Given the description of an element on the screen output the (x, y) to click on. 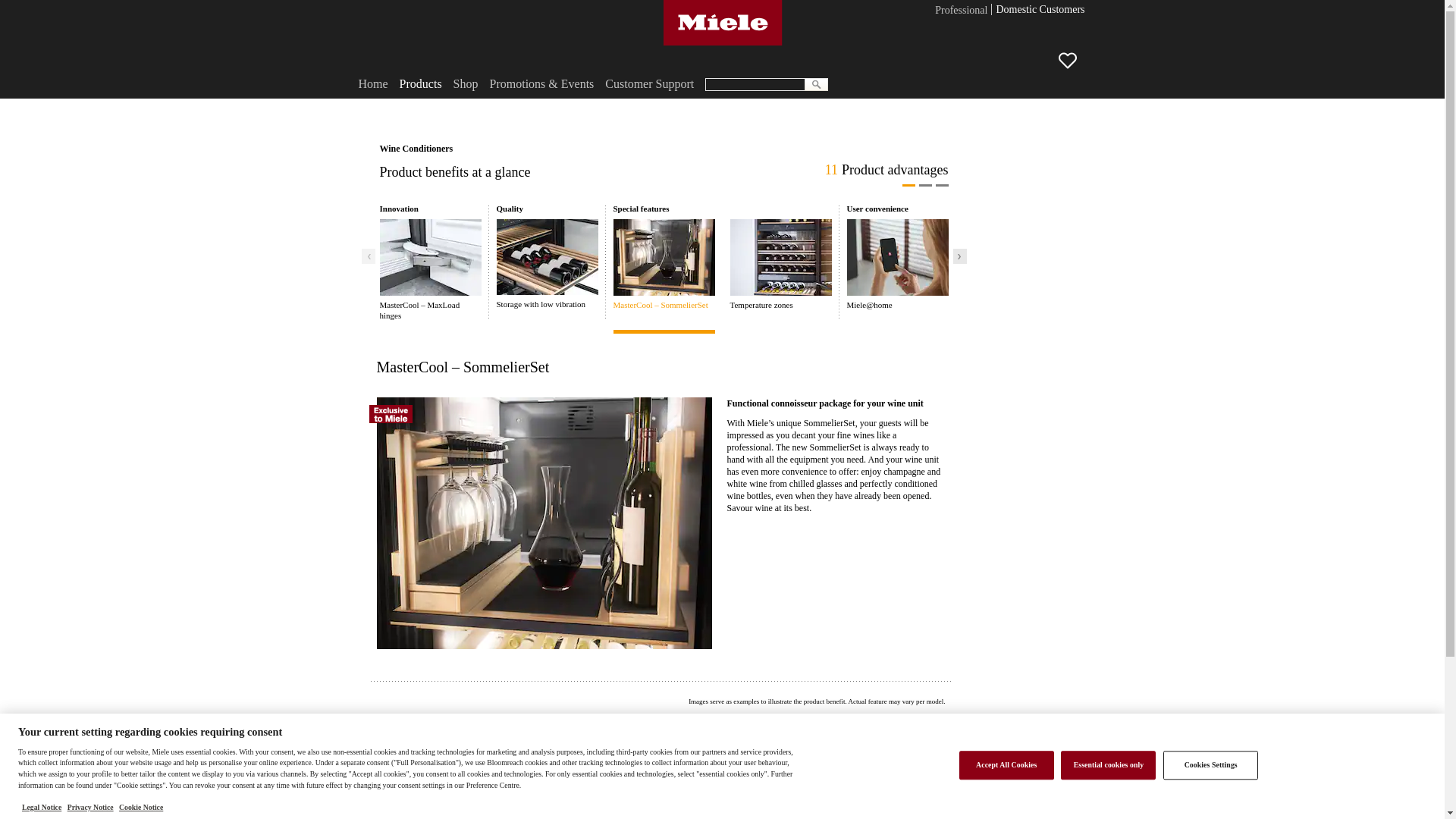
Domestic Customers (1039, 11)
Shop (465, 83)
Customer Support (649, 83)
Wish list (1067, 60)
Wish list (1074, 63)
Storage with low vibration (546, 264)
Home (372, 83)
Temperature zones (780, 264)
Professional (960, 11)
Products (420, 83)
